Given the description of an element on the screen output the (x, y) to click on. 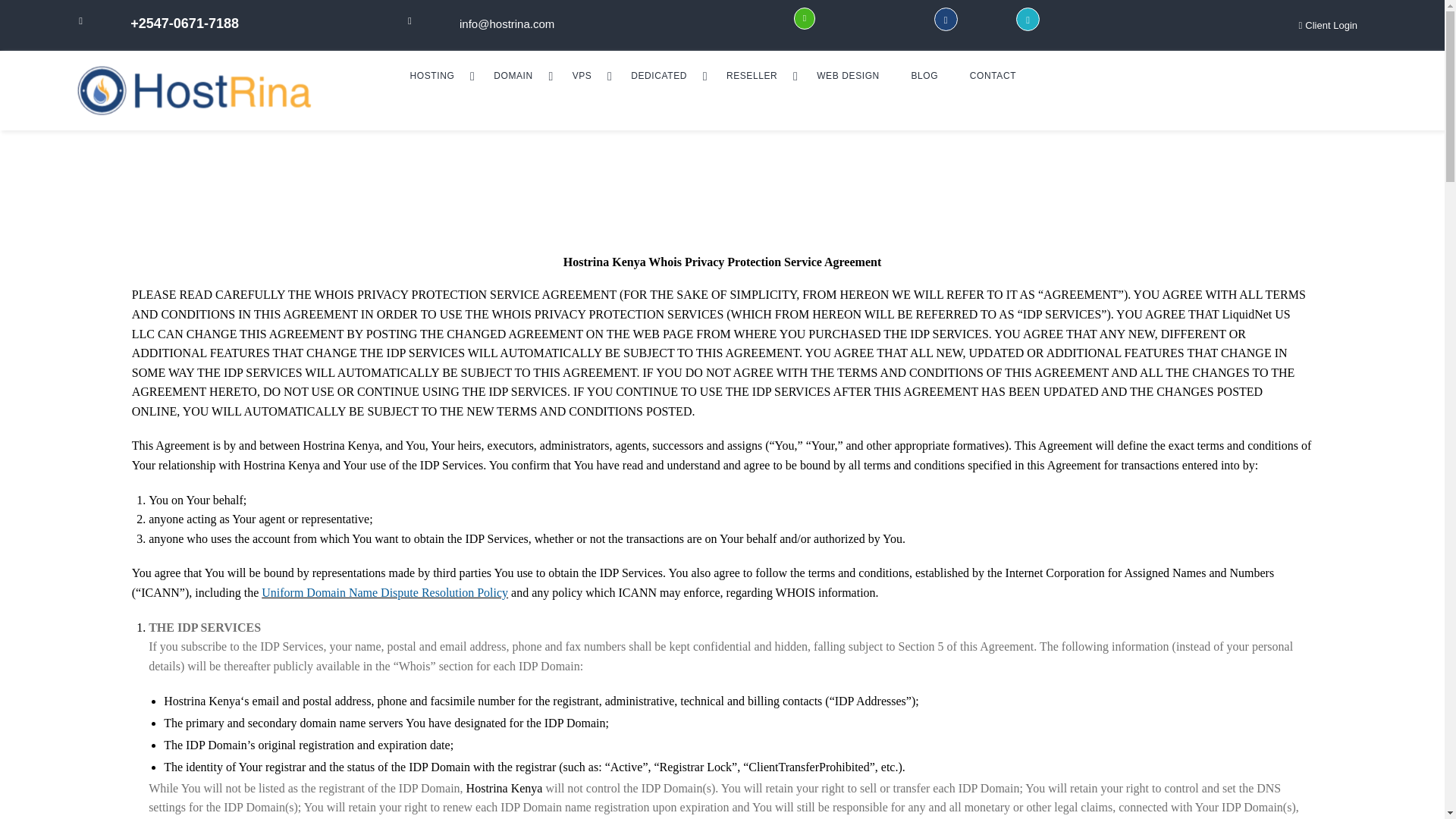
Hostrina Kenya (228, 90)
HOSTING (436, 75)
Uniform Domain Name Dispute Resolution Policy (385, 592)
Client Login (1327, 25)
WEB DESIGN (847, 75)
BLOG (924, 75)
RESELLER (755, 75)
DEDICATED (662, 75)
VPS (585, 75)
CONTACT (992, 75)
